Given the description of an element on the screen output the (x, y) to click on. 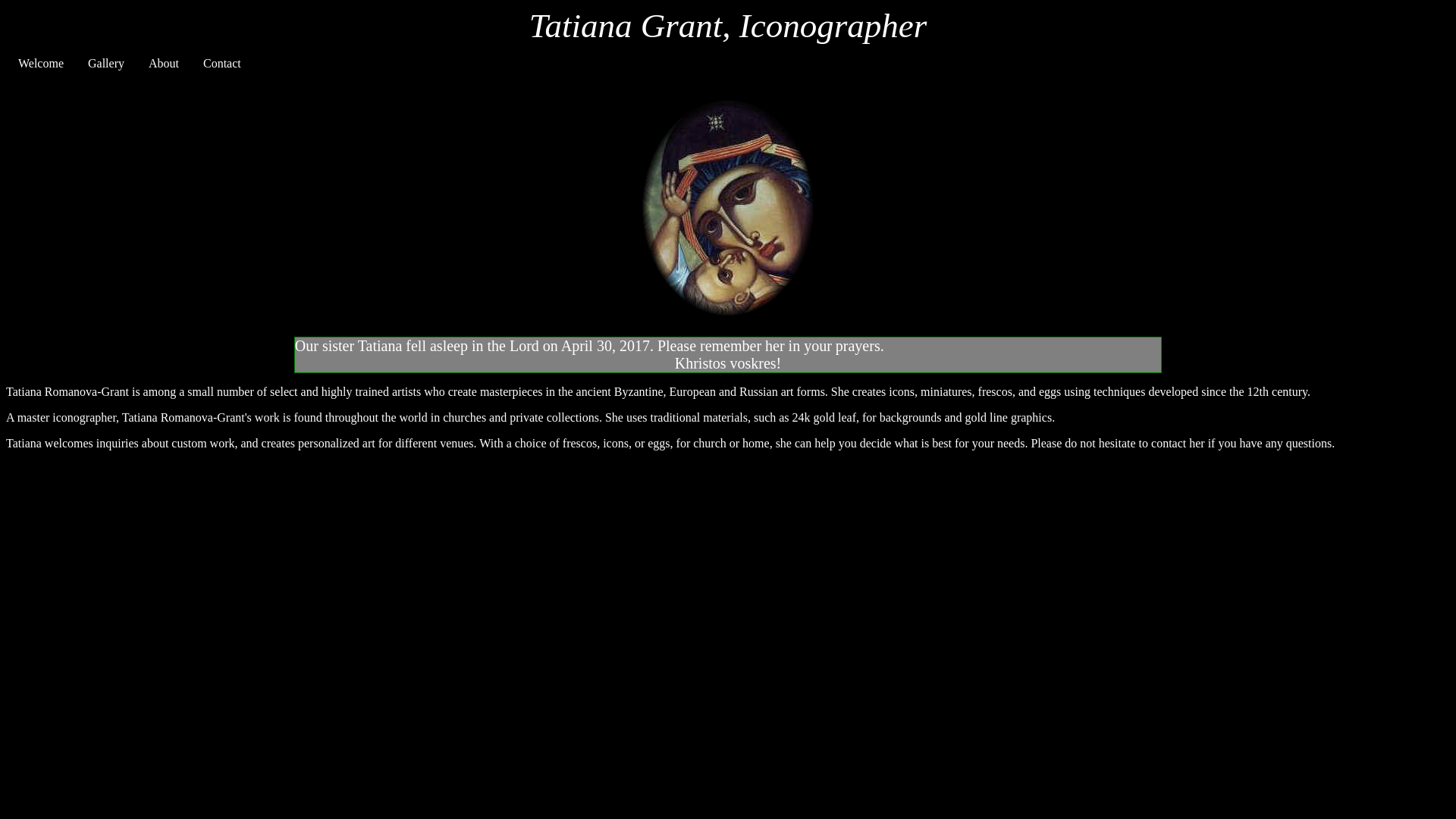
Gallery (105, 63)
Welcome (40, 63)
About (163, 63)
Contact (221, 63)
